Given the description of an element on the screen output the (x, y) to click on. 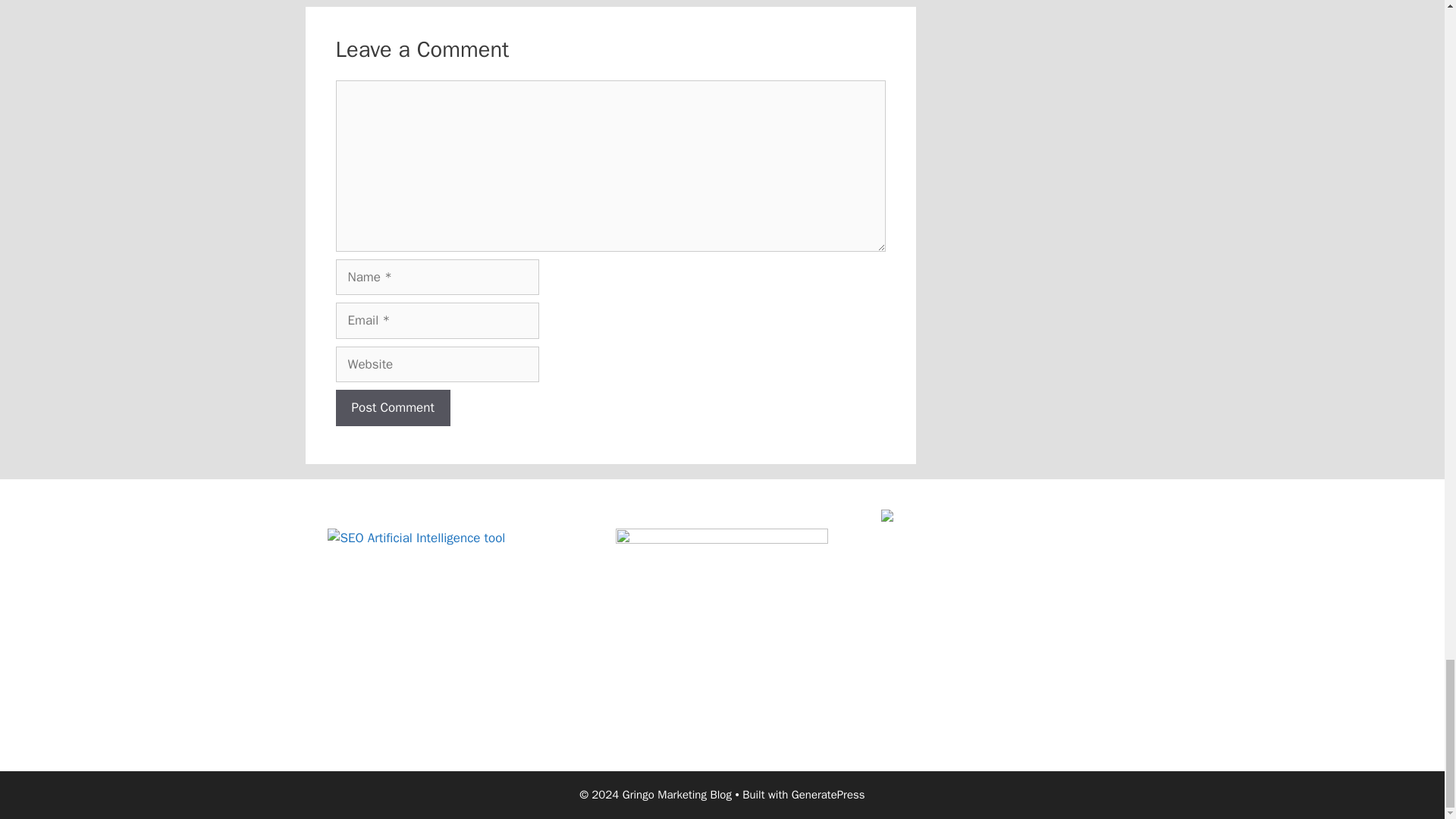
Post Comment (391, 407)
Post Comment (391, 407)
